Given the description of an element on the screen output the (x, y) to click on. 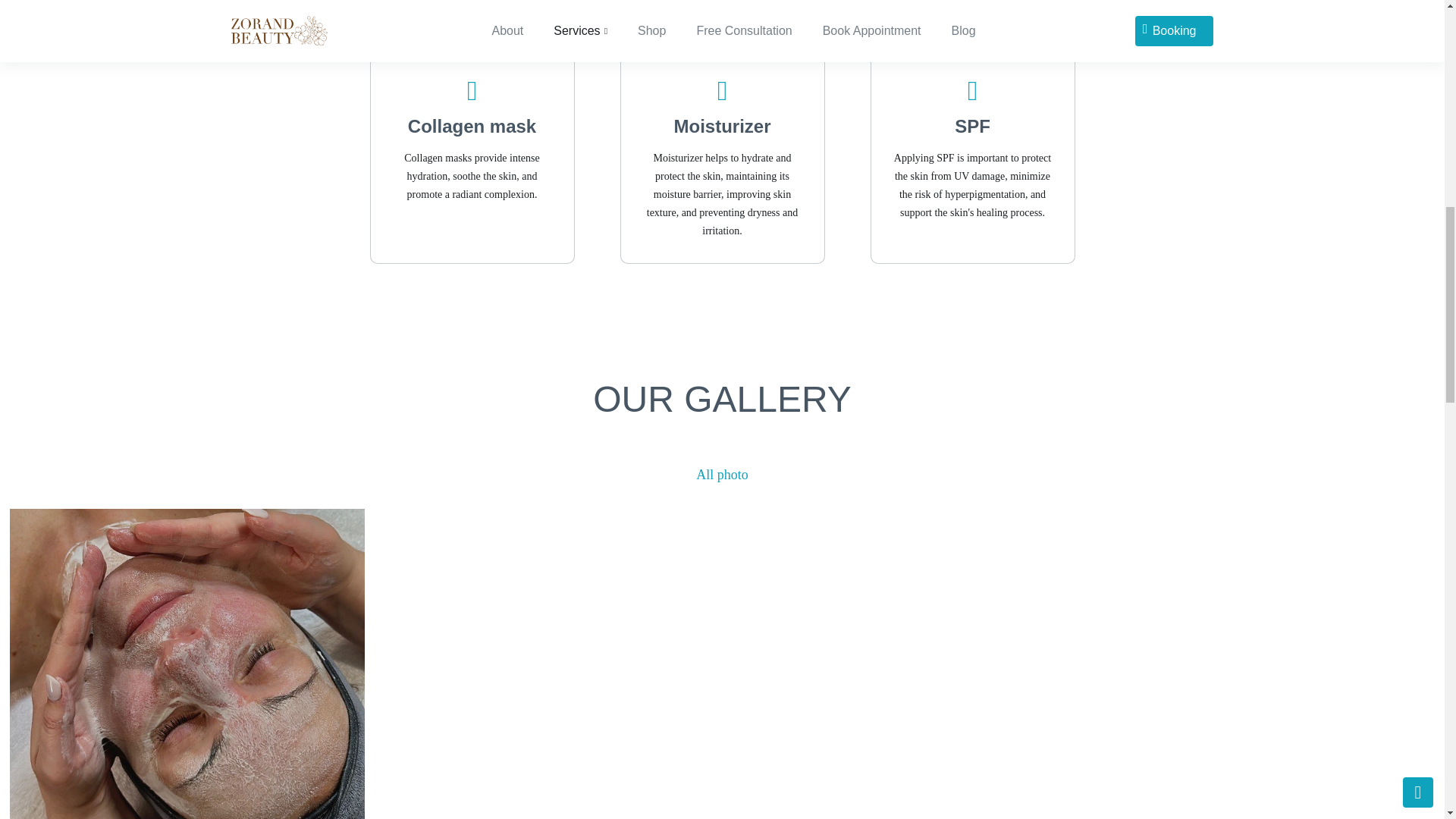
SPF (972, 126)
Moisturizer (721, 126)
Collagen mask (471, 126)
